Given the description of an element on the screen output the (x, y) to click on. 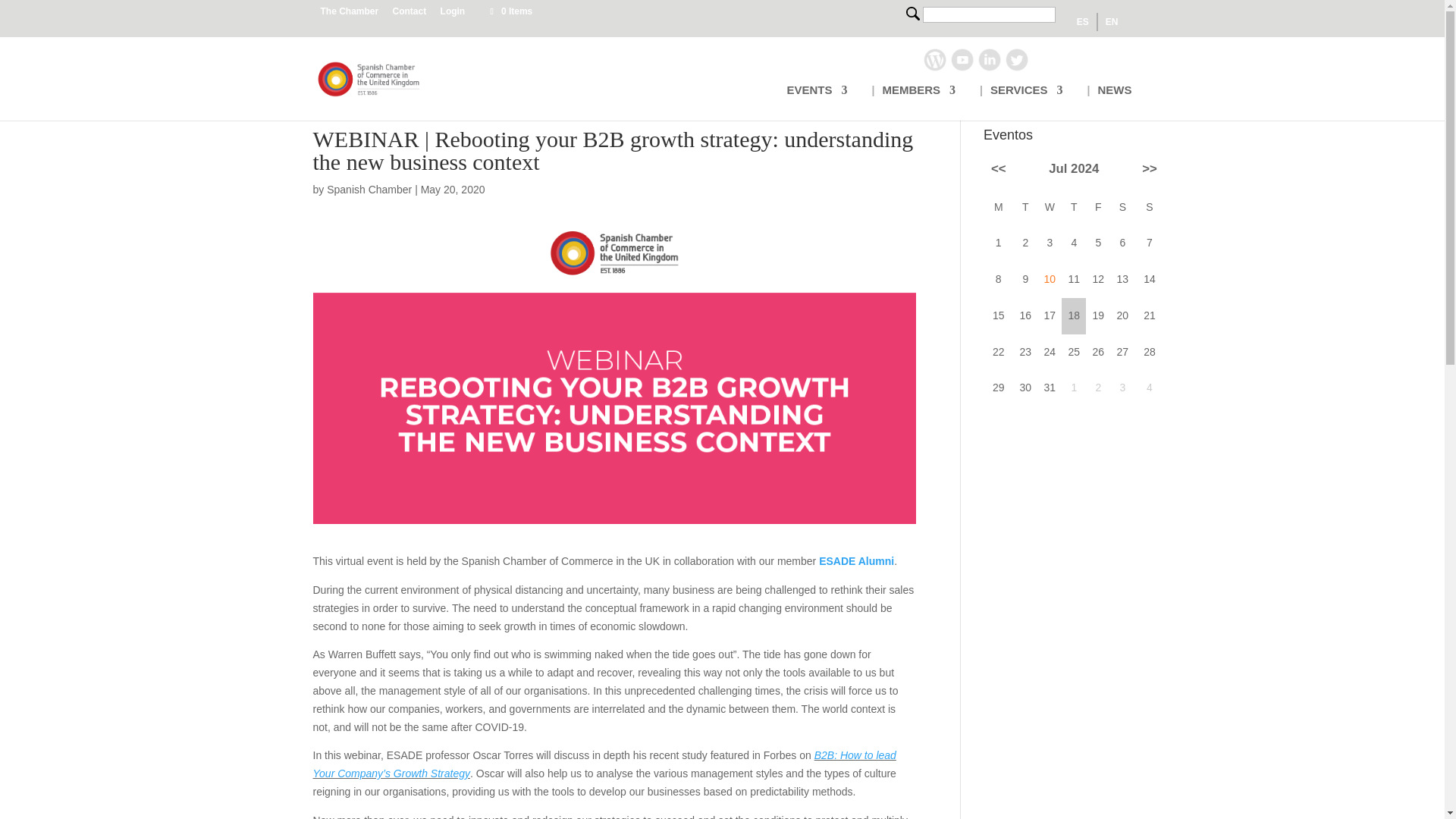
Posts by Spanish Chamber (369, 189)
10 (1050, 278)
The Chamber (349, 14)
ESADE Alumni (855, 561)
ES (1082, 22)
EN (1111, 22)
Search (913, 13)
NEWS (1114, 102)
Contact (409, 14)
Login (453, 14)
Spanish Chamber (369, 189)
0 Items (509, 10)
Search (913, 13)
EVENTS (816, 102)
